Given the description of an element on the screen output the (x, y) to click on. 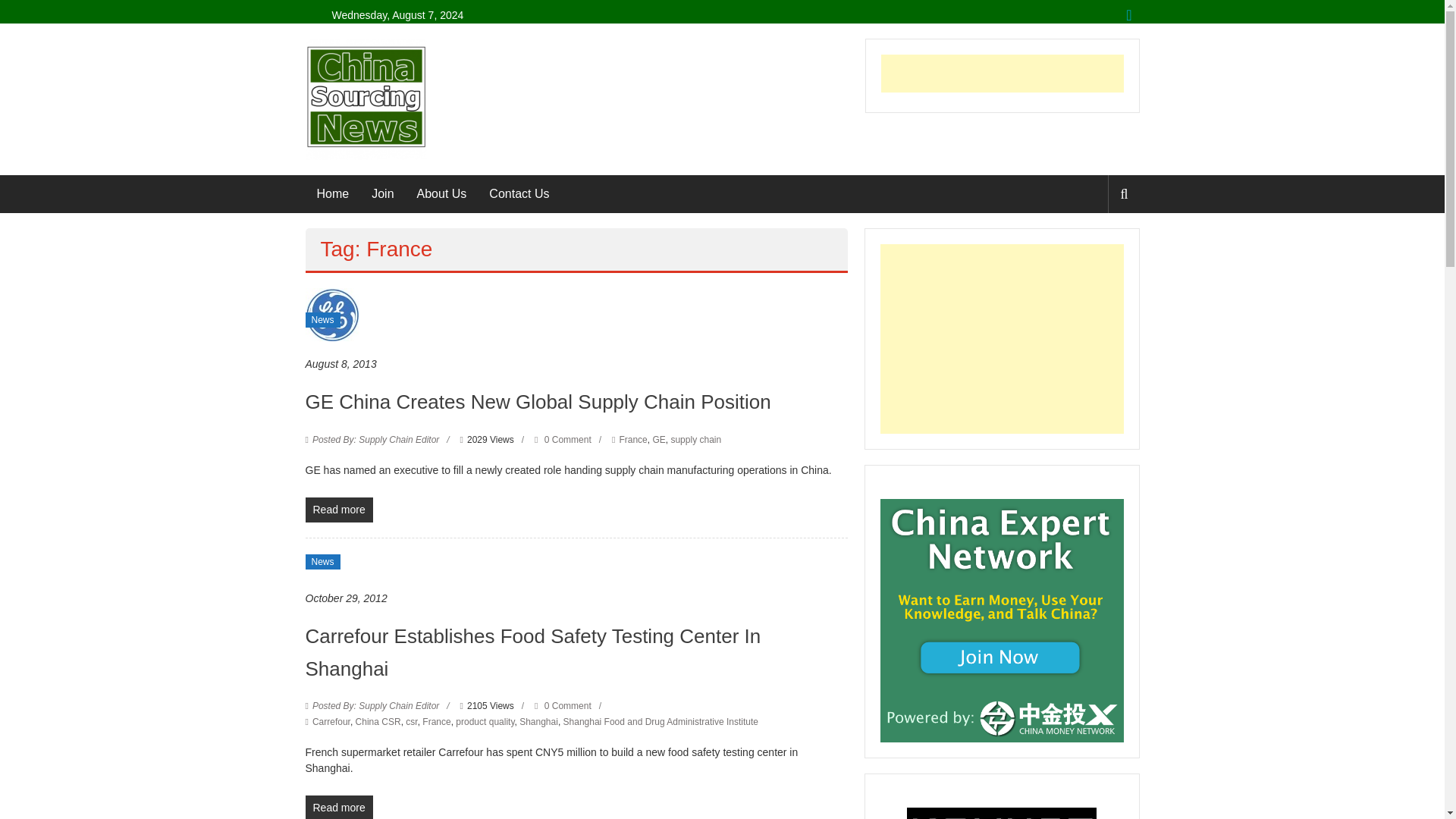
12:58 am (345, 598)
Carrefour Establishes Food Safety Testing Center In Shanghai (532, 652)
About Us (441, 193)
GE China Creates New Global Supply Chain Position (537, 401)
August 8, 2013 (339, 364)
France (632, 439)
Read more (338, 509)
Contact Us (518, 193)
GE China Creates New Global Supply Chain Position (331, 313)
Carrefour Establishes Food Safety Testing Center In Shanghai (532, 652)
